Given the description of an element on the screen output the (x, y) to click on. 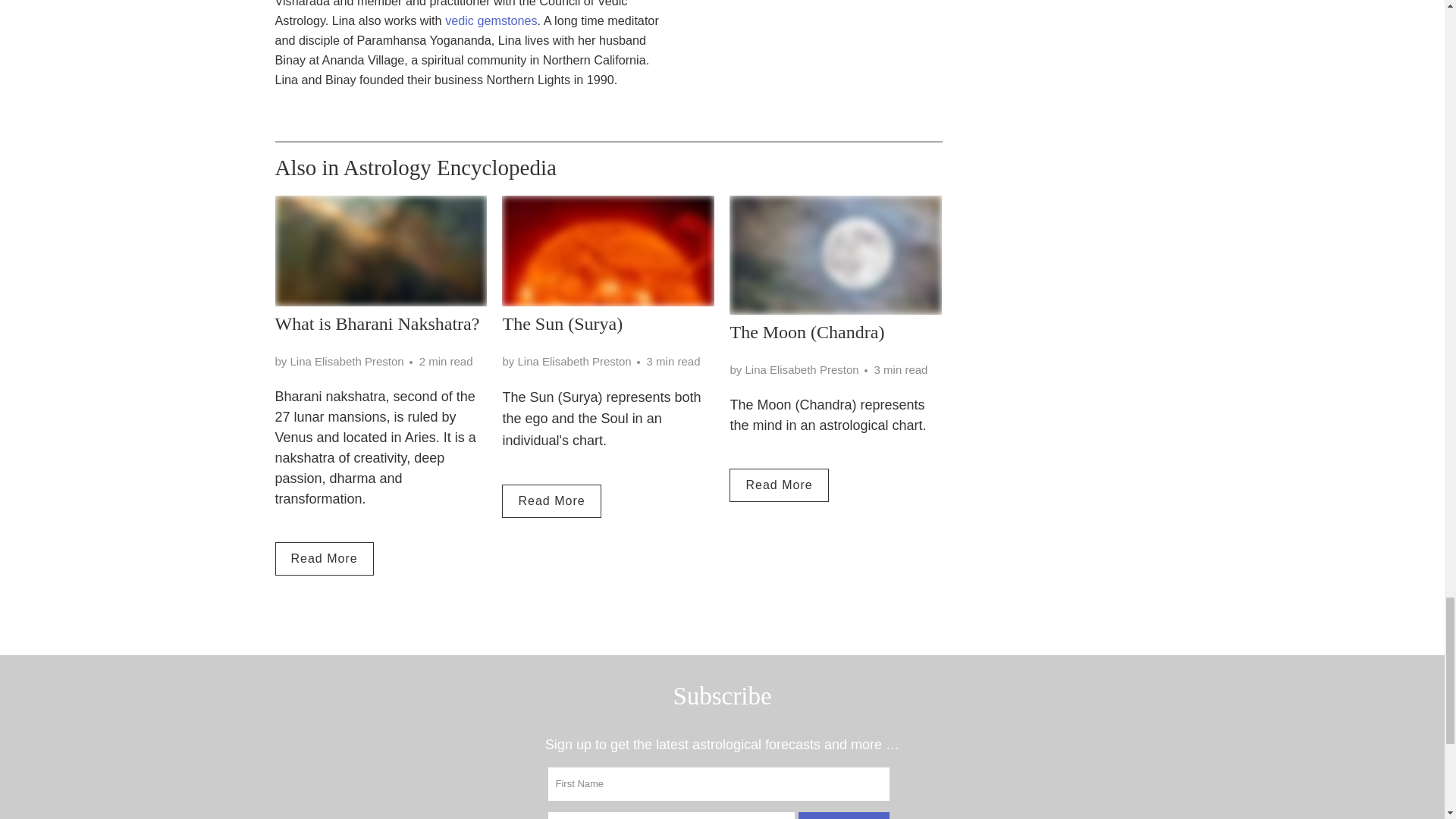
What is Bharani Nakshatra? (380, 250)
What is Bharani Nakshatra? (377, 323)
Sign Up (842, 815)
